Given the description of an element on the screen output the (x, y) to click on. 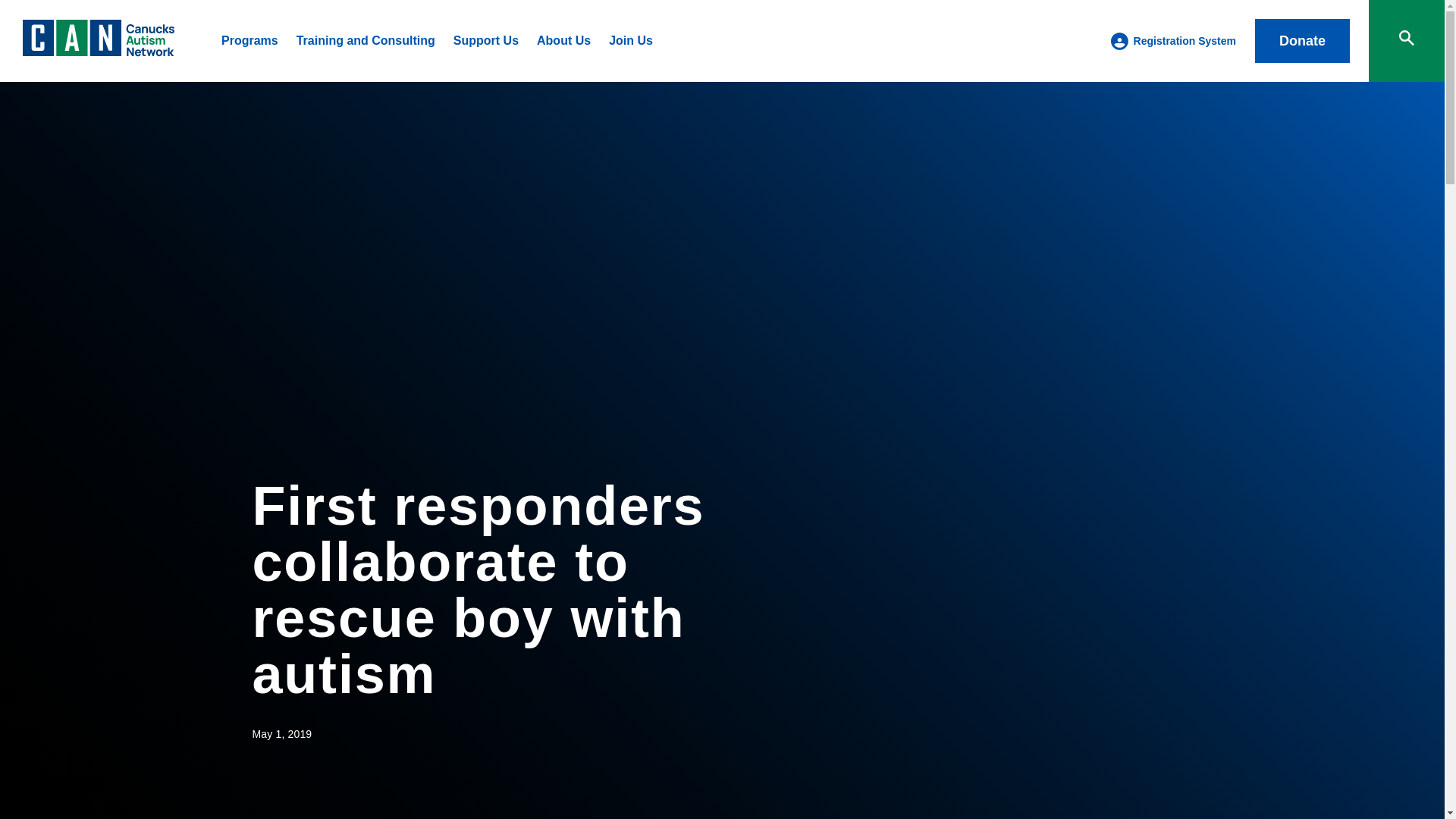
Support Us (485, 40)
Canucks Autism Network (98, 51)
Registration System (1185, 41)
Programs (249, 40)
Training and Consulting (365, 40)
Donate (1302, 40)
